Given the description of an element on the screen output the (x, y) to click on. 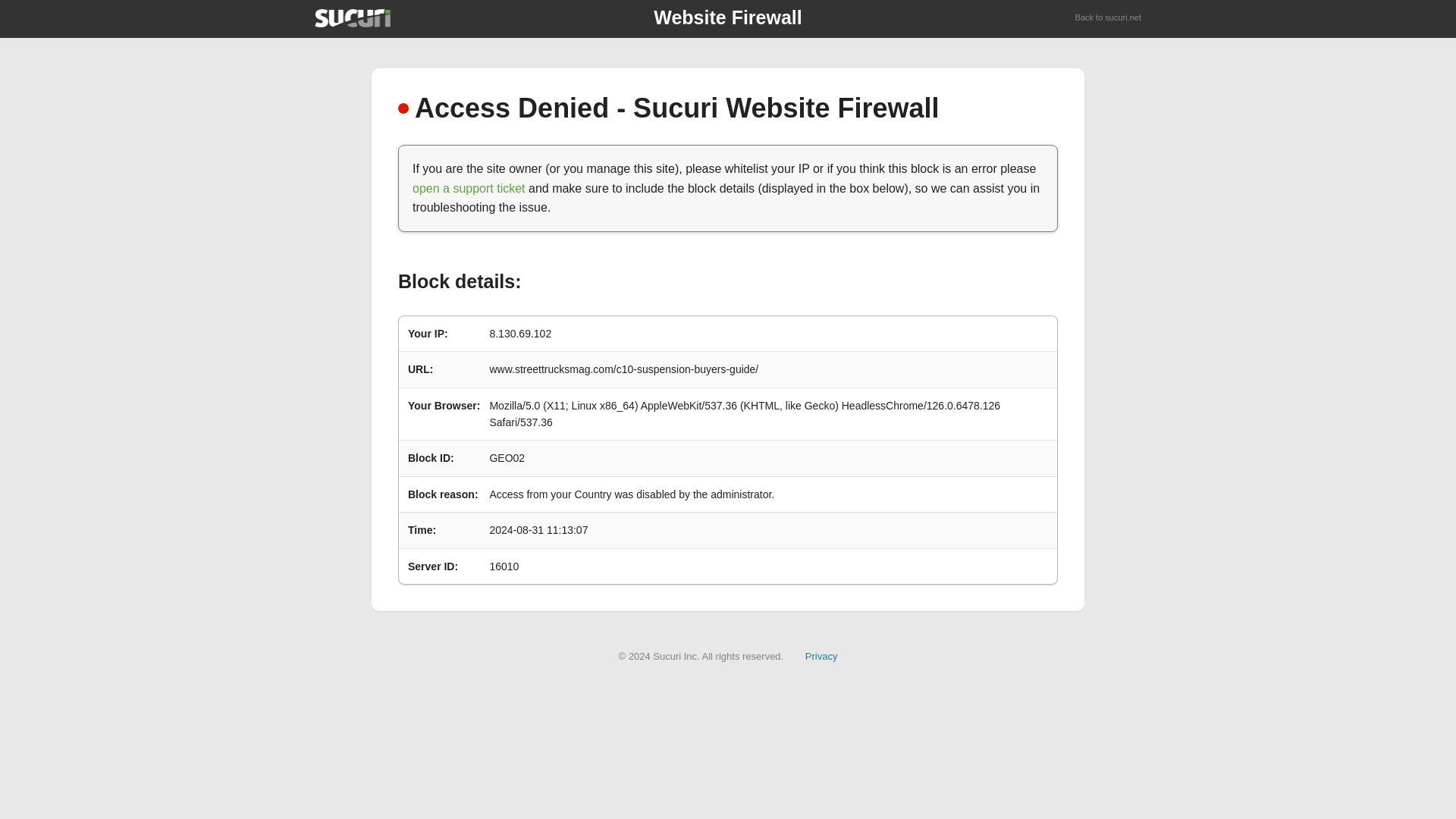
Privacy (821, 655)
Back to sucuri.net (1108, 18)
open a support ticket (468, 187)
